Given the description of an element on the screen output the (x, y) to click on. 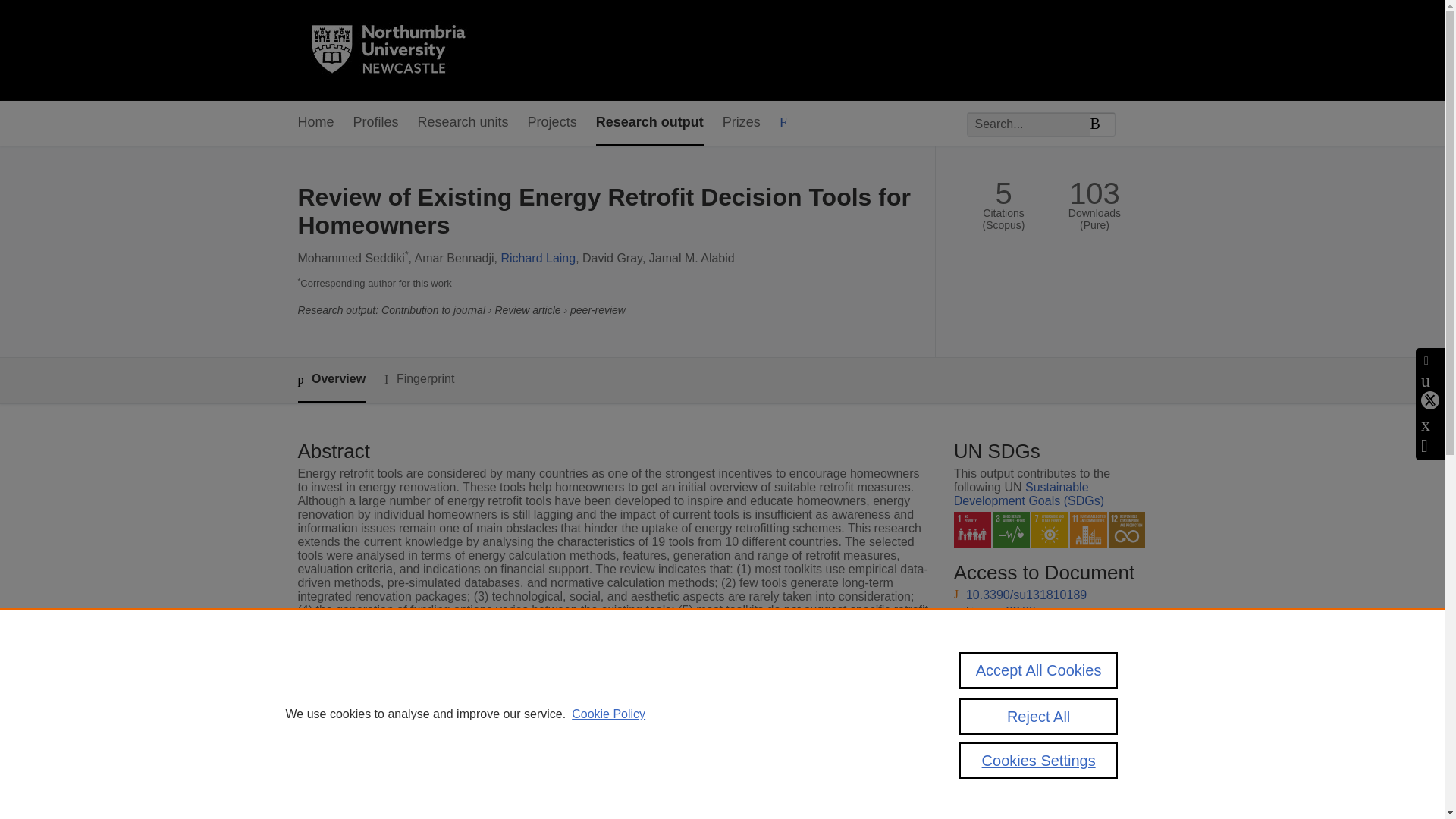
CC BY (1020, 609)
Fingerprint (419, 379)
SDG 3 - Good Health and Well-being (1010, 529)
sustainability-13-10189 (1028, 640)
CC BY (1020, 669)
SDG 1 - No Poverty (972, 529)
Overview (331, 379)
Profiles (375, 122)
SDG 12 - Responsible Consumption and Production (1126, 529)
SDG 11 - Sustainable Cities and Communities (1088, 529)
